Given the description of an element on the screen output the (x, y) to click on. 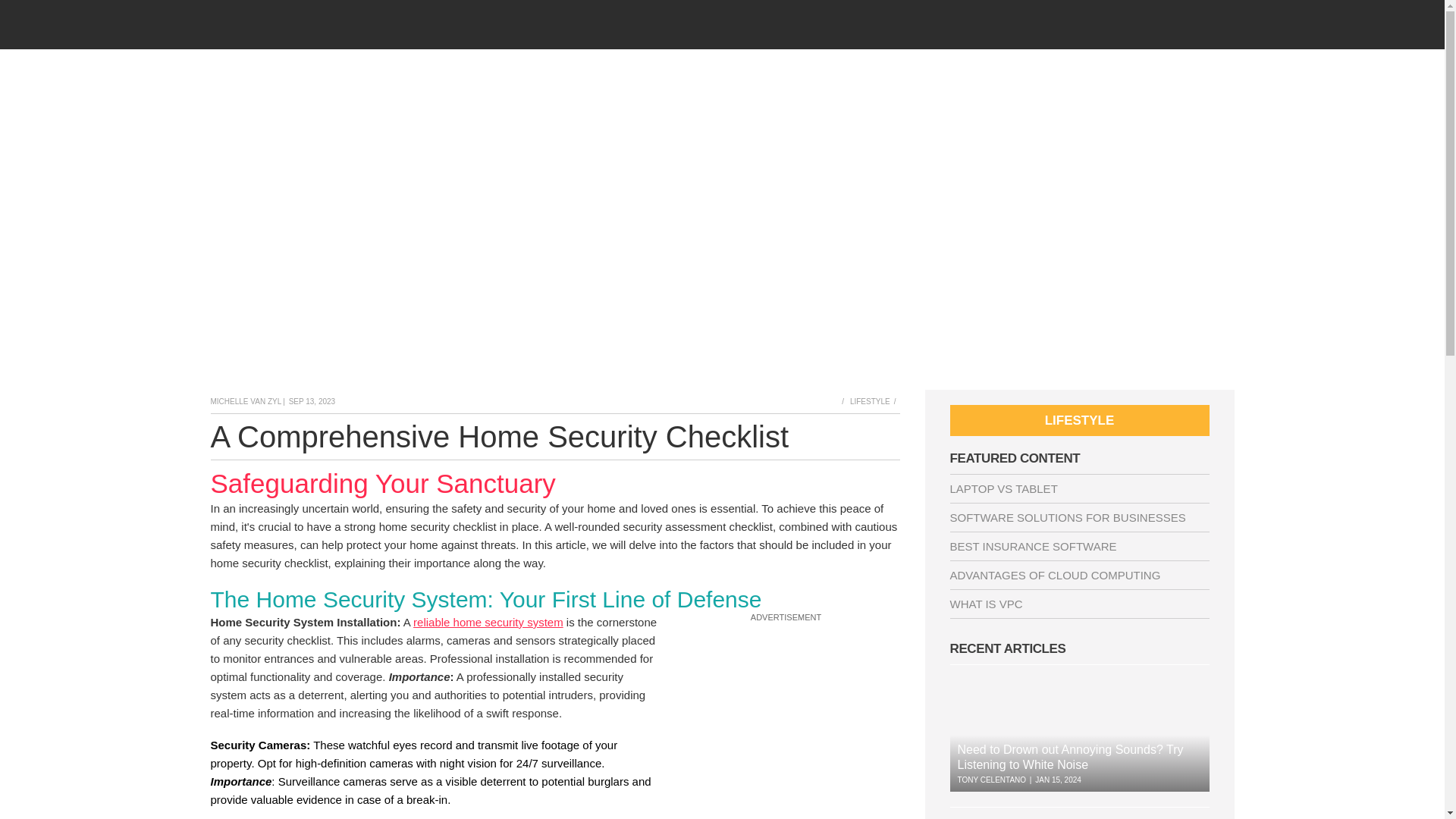
TechSerious (341, 24)
